Given the description of an element on the screen output the (x, y) to click on. 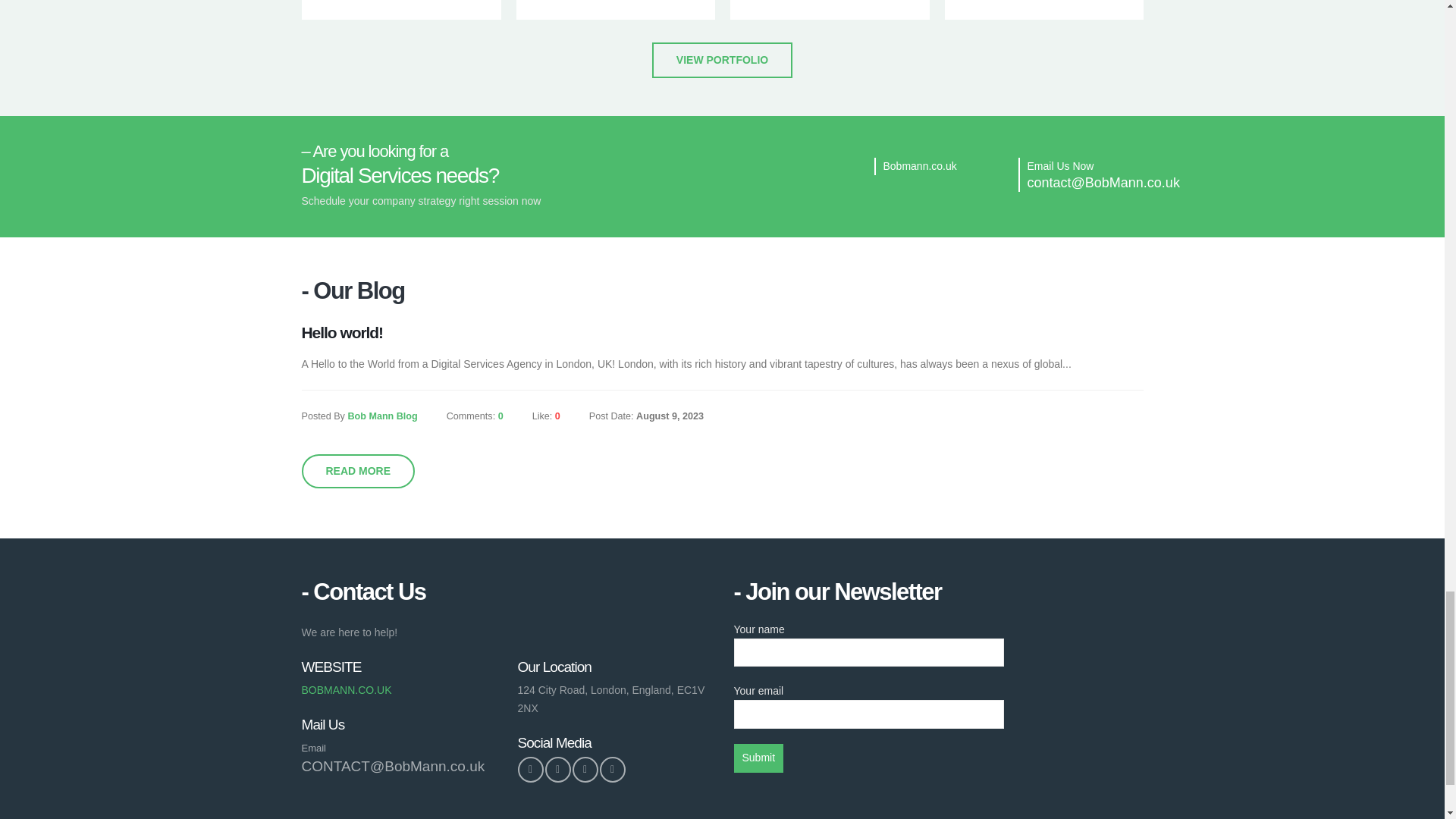
Call Us (346, 689)
Posts by Bob Mann Blog (381, 416)
Submit (758, 758)
